Given the description of an element on the screen output the (x, y) to click on. 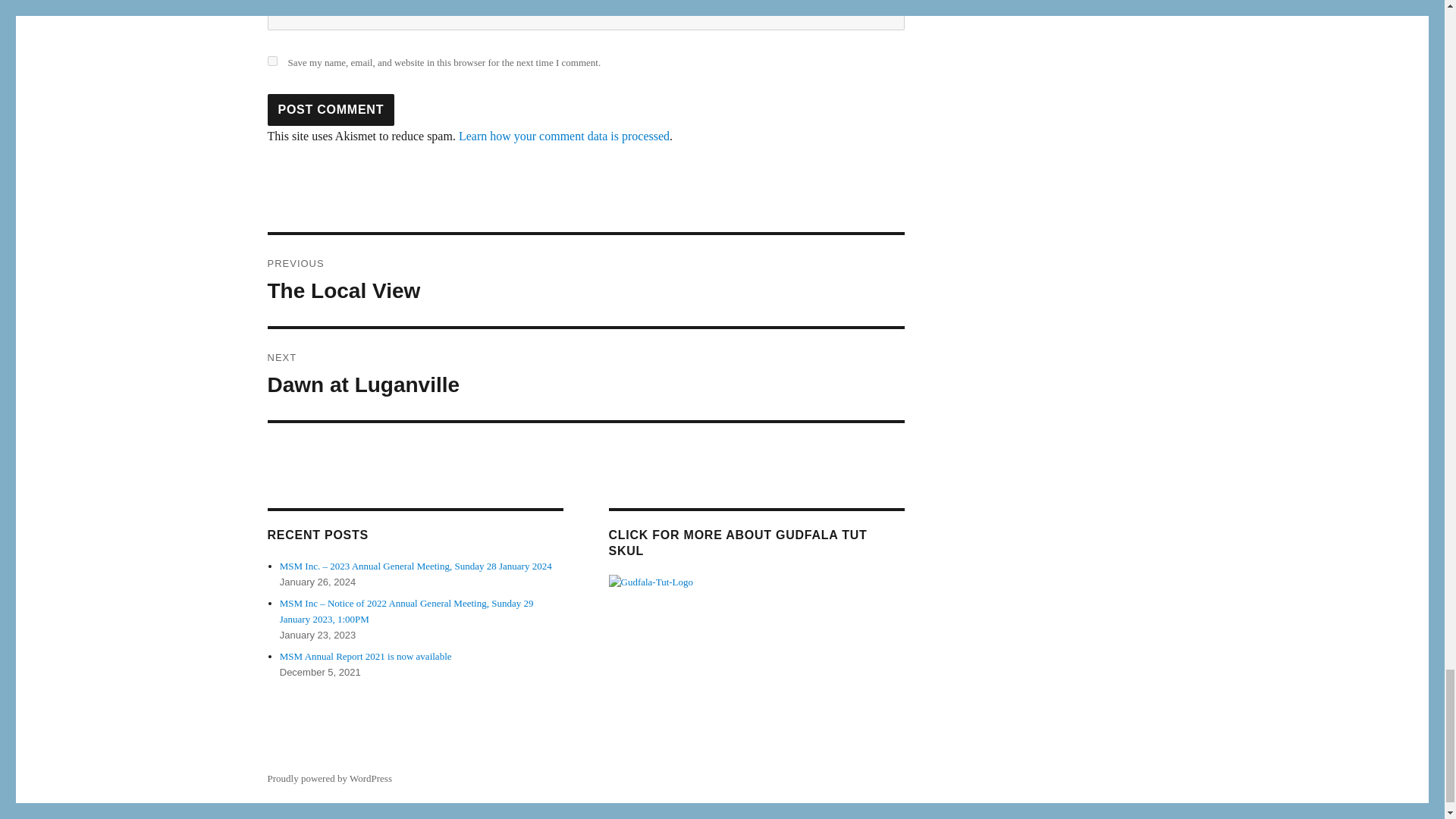
Post Comment (330, 110)
yes (271, 61)
